Given the description of an element on the screen output the (x, y) to click on. 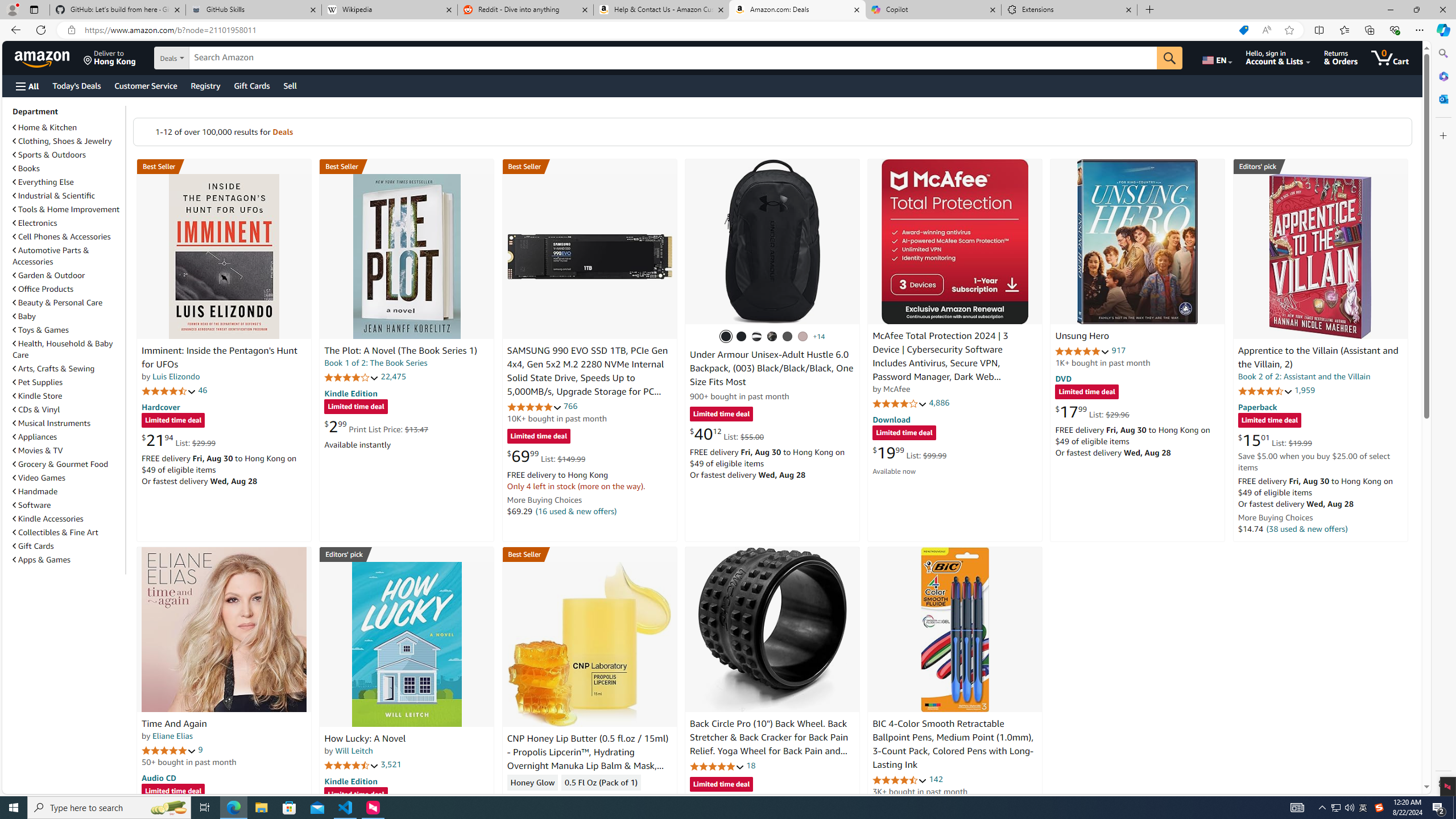
Books (67, 167)
Copilot (933, 9)
Office Products (43, 289)
4.8 out of 5 stars (716, 766)
4.2 out of 5 stars (352, 377)
Movies & TV (67, 450)
Everything Else (43, 181)
$15.01 List: $19.99 (1274, 439)
Imminent: Inside the Pentagon's Hunt for UFOs (219, 358)
Toys & Games (67, 329)
Sports & Outdoors (49, 154)
Collectibles & Fine Art (56, 532)
Beauty & Personal Care (67, 301)
(38 used & new offers) (1307, 528)
Beauty & Personal Care (58, 302)
